Given the description of an element on the screen output the (x, y) to click on. 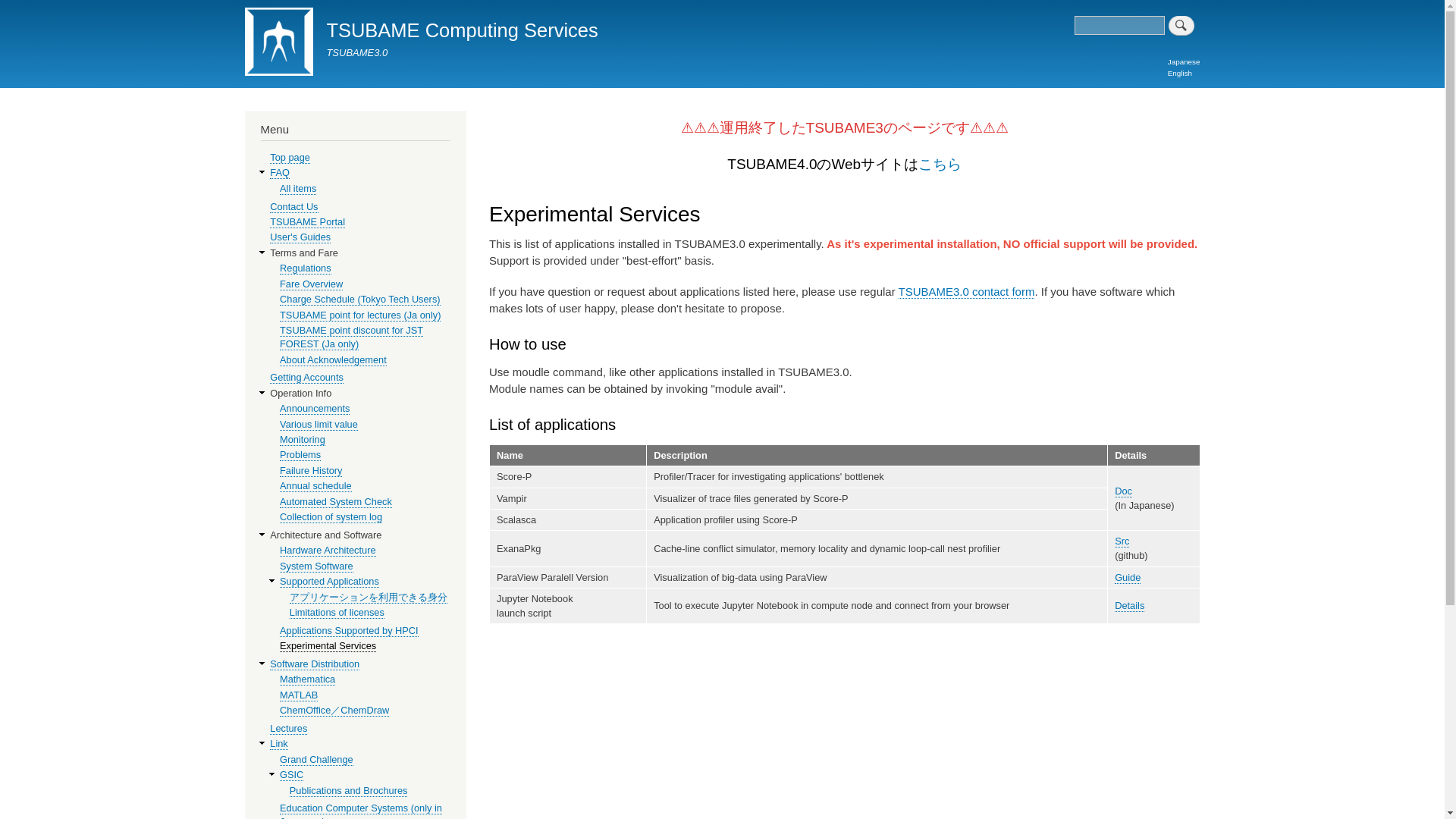
Announcements (314, 408)
link (277, 743)
Various limit value (318, 424)
Src (1122, 541)
About Acknowledgement (333, 359)
Contact Us (293, 206)
Doc (1123, 491)
Annual schedule (315, 485)
Search (1181, 25)
Details (1129, 605)
